Given the description of an element on the screen output the (x, y) to click on. 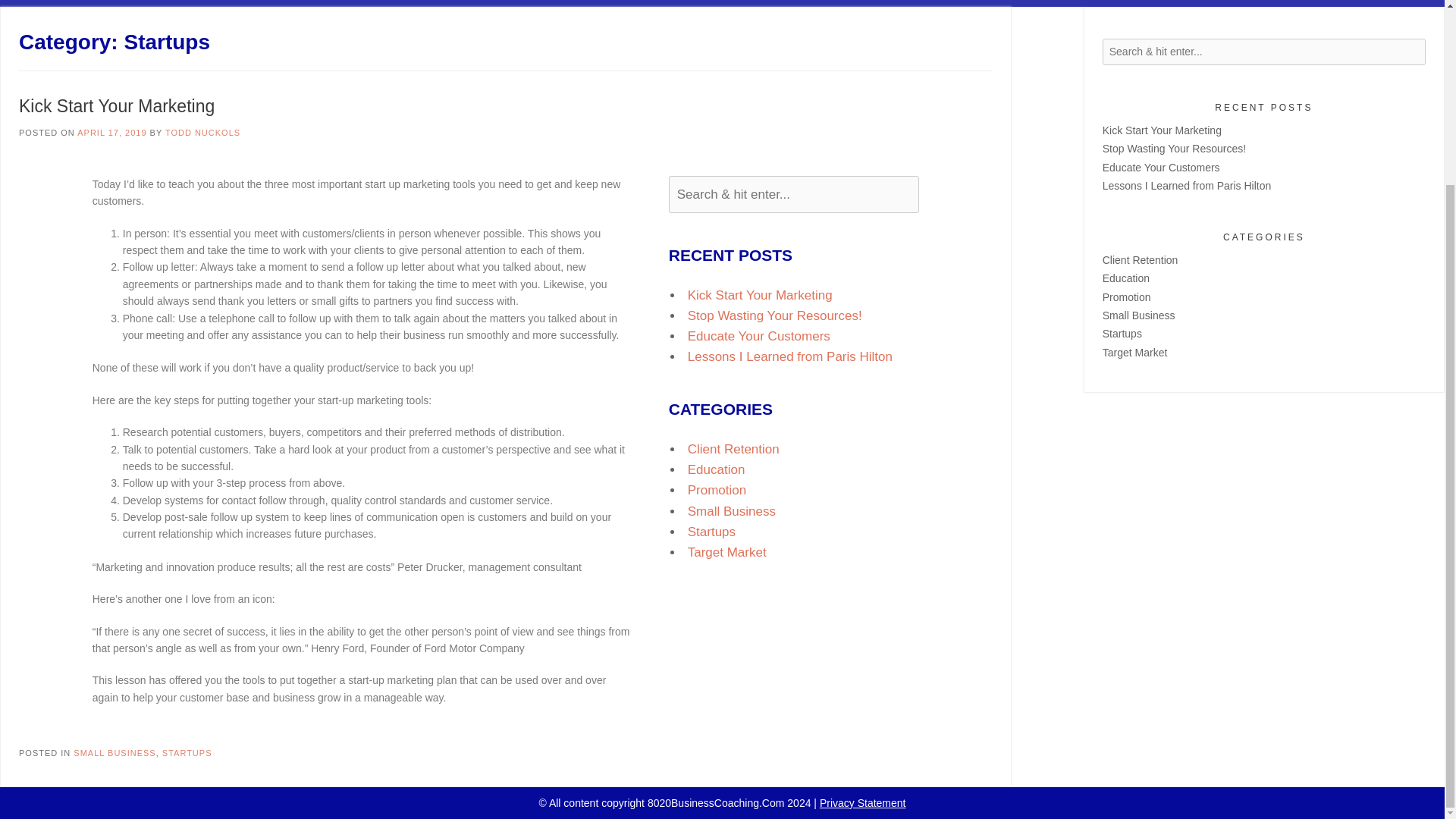
Kick Start Your Marketing (116, 106)
Target Market (727, 552)
TODD NUCKOLS (202, 132)
Education (716, 469)
Lessons I Learned from Paris Hilton (789, 356)
Stop Wasting Your Resources! (774, 315)
APRIL 17, 2019 (112, 132)
Client Retention (732, 449)
STARTUPS (186, 752)
Small Business (731, 511)
Educate Your Customers (1161, 167)
Educate Your Customers (758, 336)
Kick Start Your Marketing (1161, 130)
Stop Wasting Your Resources! (1174, 148)
SMALL BUSINESS (114, 752)
